Given the description of an element on the screen output the (x, y) to click on. 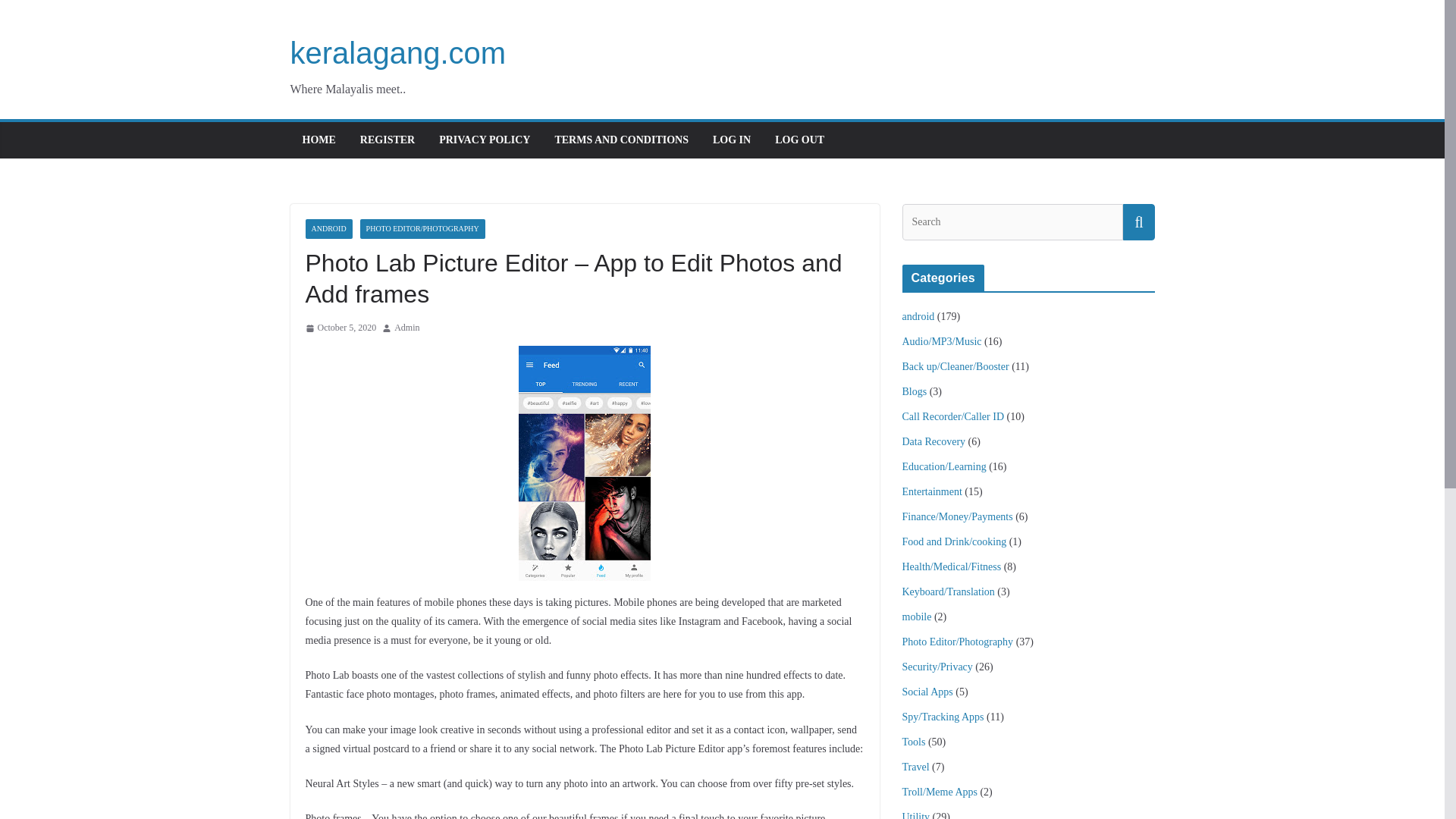
TERMS AND CONDITIONS (621, 139)
keralagang.com (397, 52)
Travel (916, 767)
HOME (317, 139)
keralagang.com (397, 52)
android (918, 316)
ANDROID (328, 229)
LOG OUT (799, 139)
4:52 am (339, 328)
Utility (916, 815)
Social Apps (927, 691)
Admin (406, 328)
REGISTER (386, 139)
Admin (406, 328)
Entertainment (932, 491)
